Given the description of an element on the screen output the (x, y) to click on. 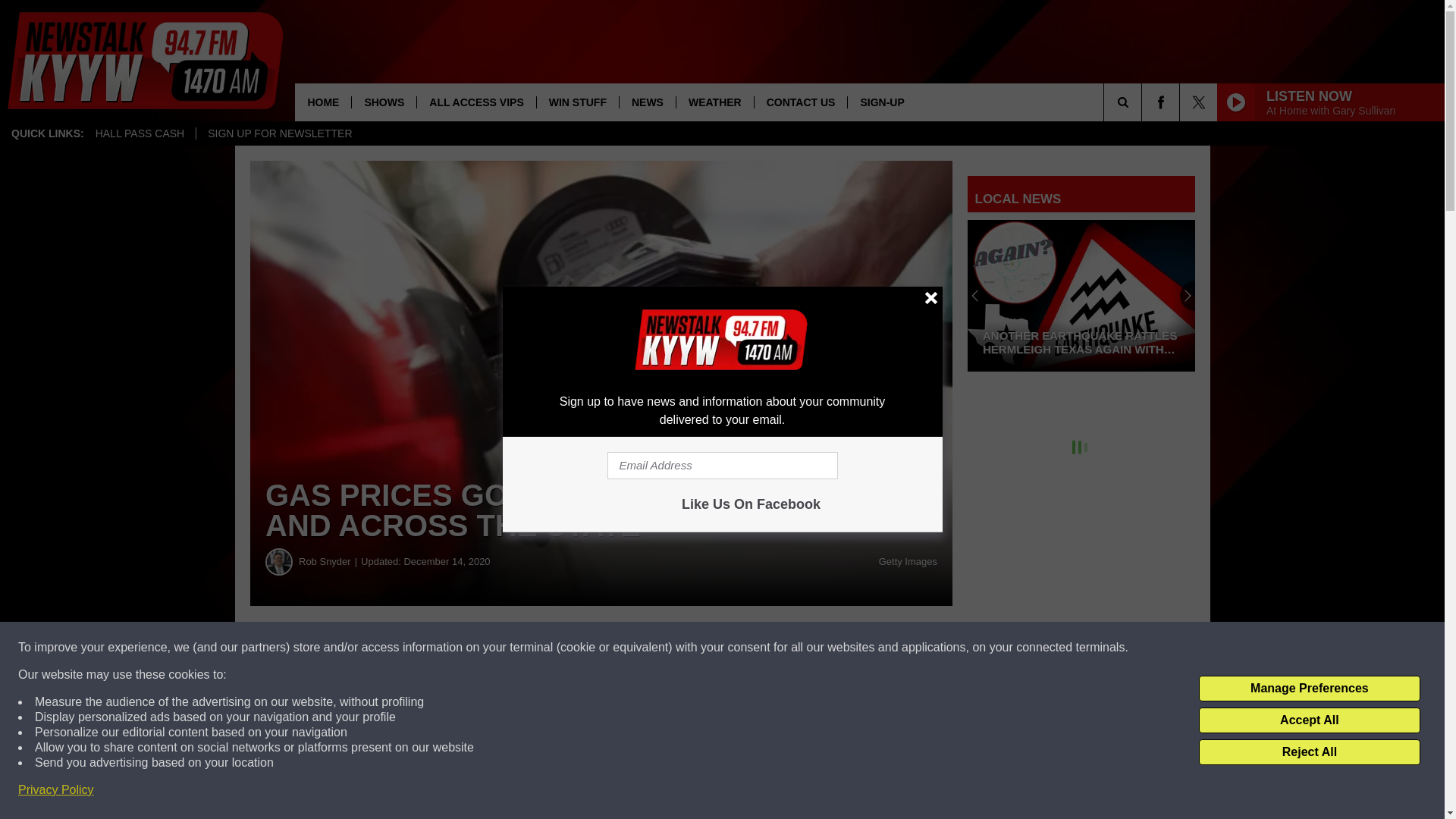
Privacy Policy (55, 789)
WEATHER (714, 102)
Share on Facebook (460, 647)
SEARCH (1144, 102)
Accept All (1309, 720)
NEWS (646, 102)
Manage Preferences (1309, 688)
HOME (322, 102)
Reject All (1309, 751)
ALL ACCESS VIPS (475, 102)
Share on Twitter (741, 647)
WIN STUFF (576, 102)
HALL PASS CASH (140, 133)
SIGN-UP (881, 102)
SIGN UP FOR NEWSLETTER (278, 133)
